Given the description of an element on the screen output the (x, y) to click on. 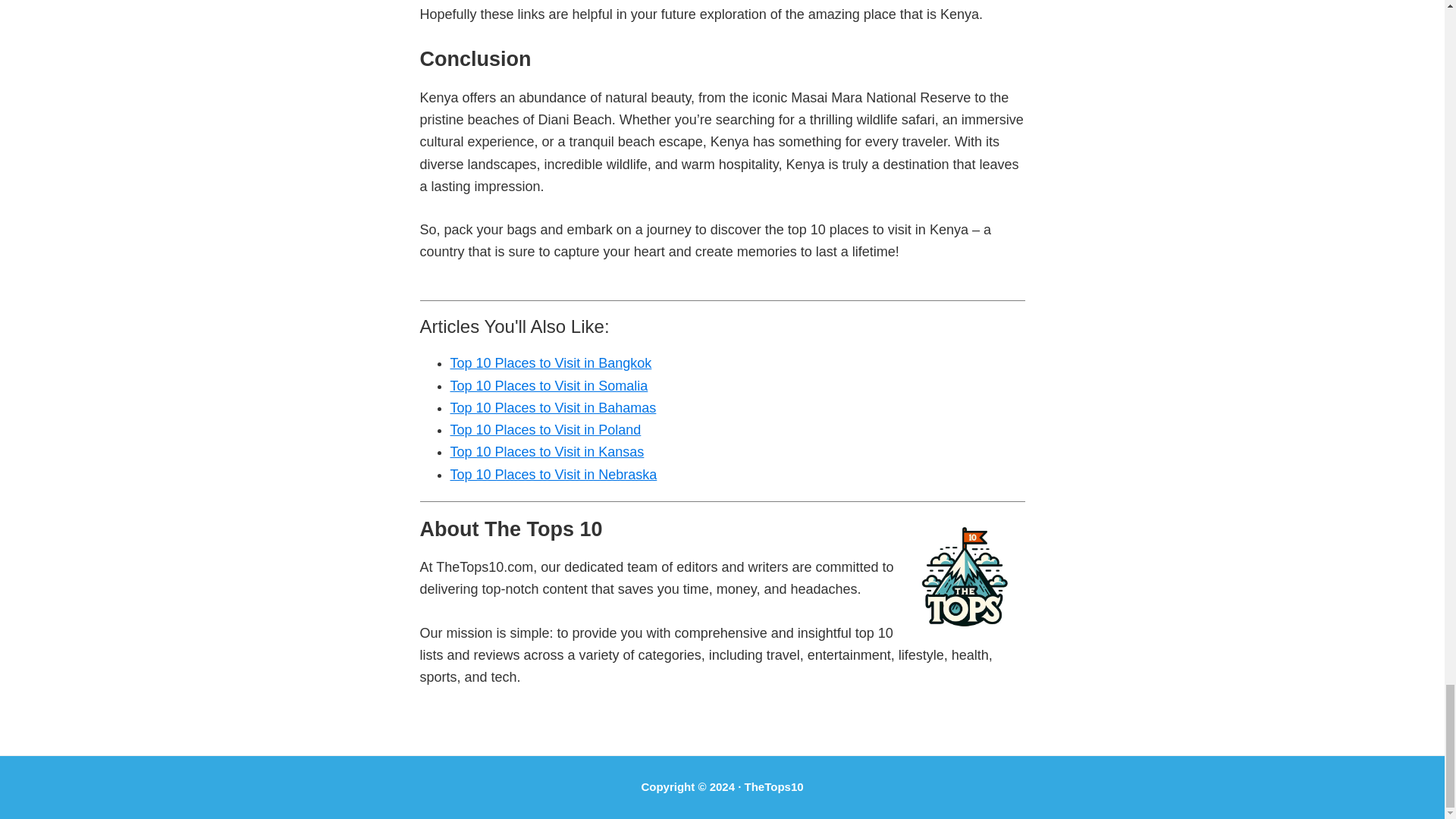
Link to Top 10 Places to Visit in Bangkok (550, 363)
Link to Top 10 Places to Visit in Somalia (548, 385)
Top 10 Places to Visit in Kansas (547, 451)
Top 10 Places to Visit in Nebraska (553, 474)
Top 10 Places to Visit in Poland (545, 429)
Link to Top 10 Places to Visit in Bahamas (552, 407)
Top 10 Places to Visit in Bangkok (550, 363)
Link to Top 10 Places to Visit in Nebraska (553, 474)
Top 10 Places to Visit in Bahamas (552, 407)
Link to Top 10 Places to Visit in Poland (545, 429)
Link to Top 10 Places to Visit in Kansas (547, 451)
Top 10 Places to Visit in Somalia (548, 385)
